Given the description of an element on the screen output the (x, y) to click on. 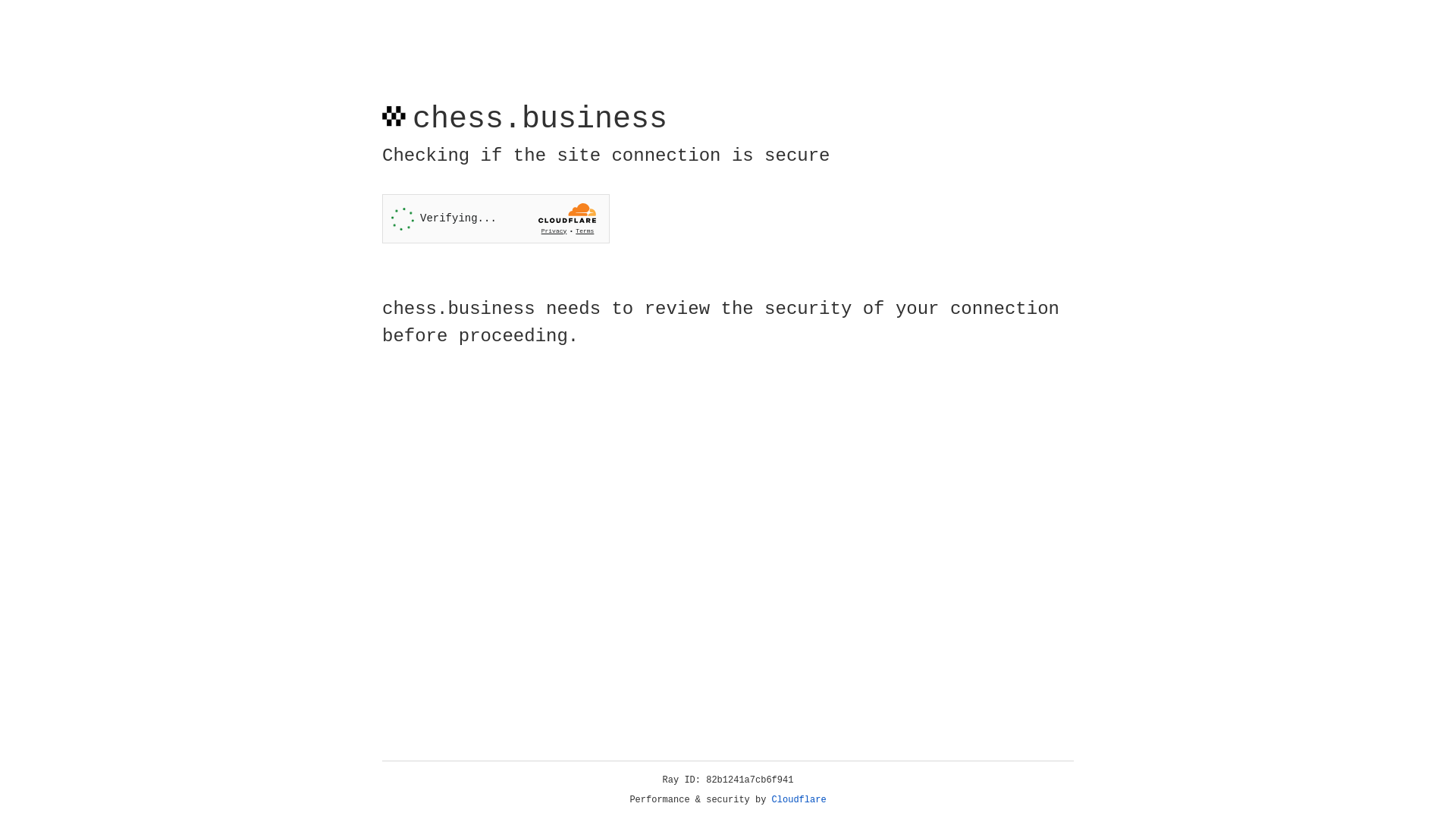
Widget containing a Cloudflare security challenge Element type: hover (495, 218)
Cloudflare Element type: text (798, 799)
